Given the description of an element on the screen output the (x, y) to click on. 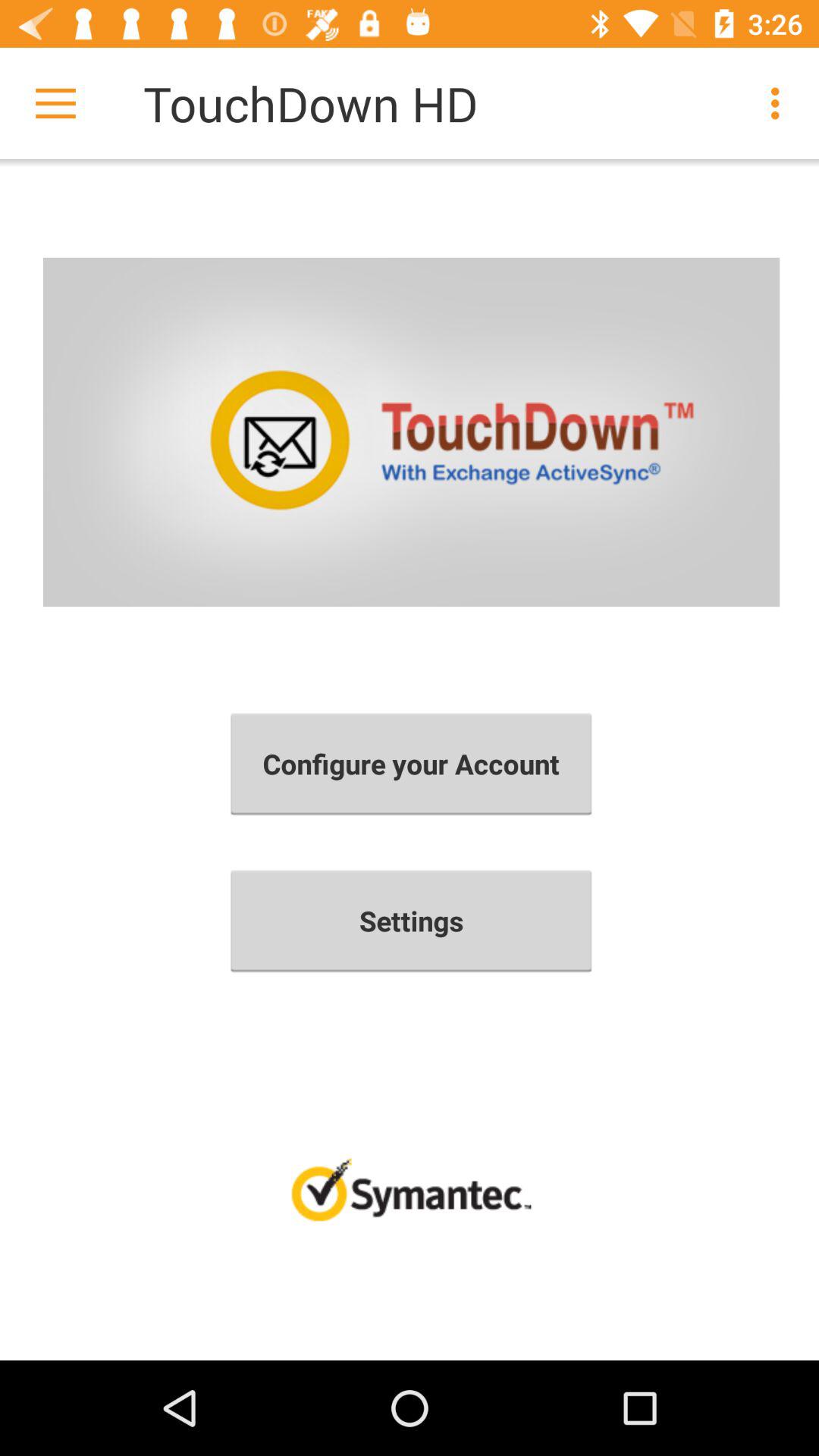
flip to configure your account item (410, 763)
